Given the description of an element on the screen output the (x, y) to click on. 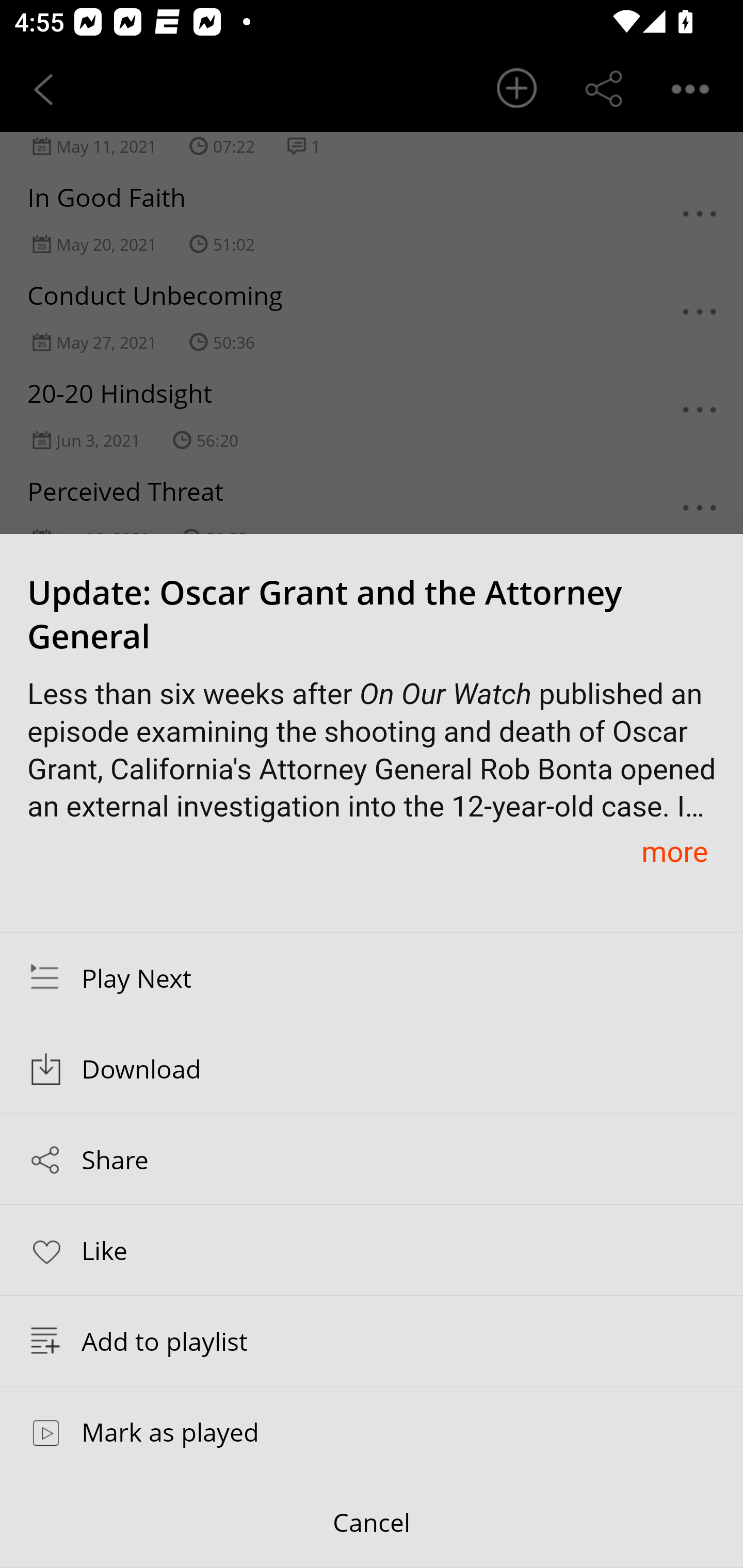
more (674, 851)
Play Next (371, 977)
Download (371, 1068)
Share (371, 1159)
Like (371, 1249)
Add to playlist (371, 1340)
Mark as played (371, 1431)
Cancel (371, 1522)
